Given the description of an element on the screen output the (x, y) to click on. 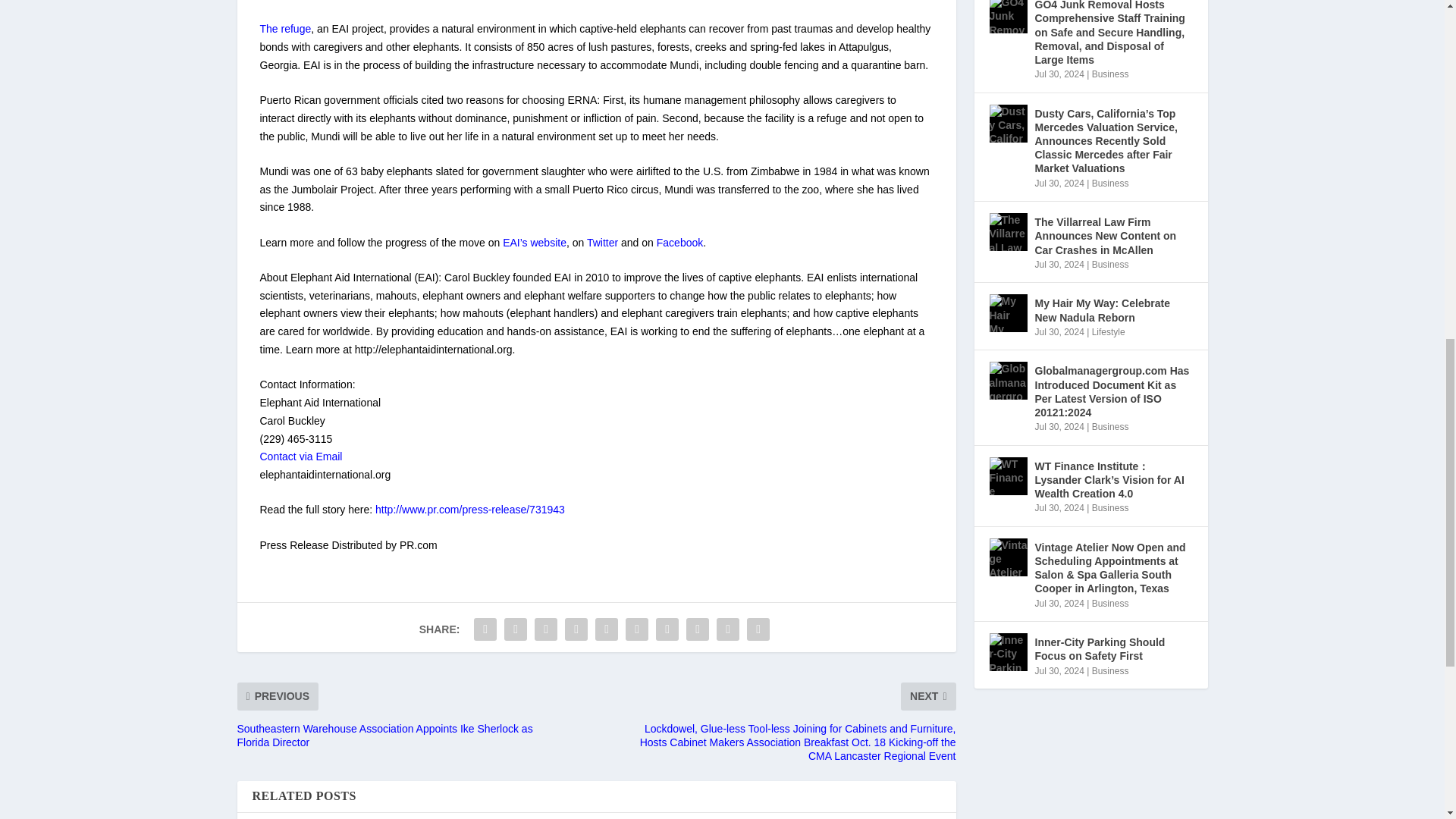
Twitter (601, 242)
Facebook (679, 242)
Contact via Email (300, 456)
The refuge (285, 28)
